Given the description of an element on the screen output the (x, y) to click on. 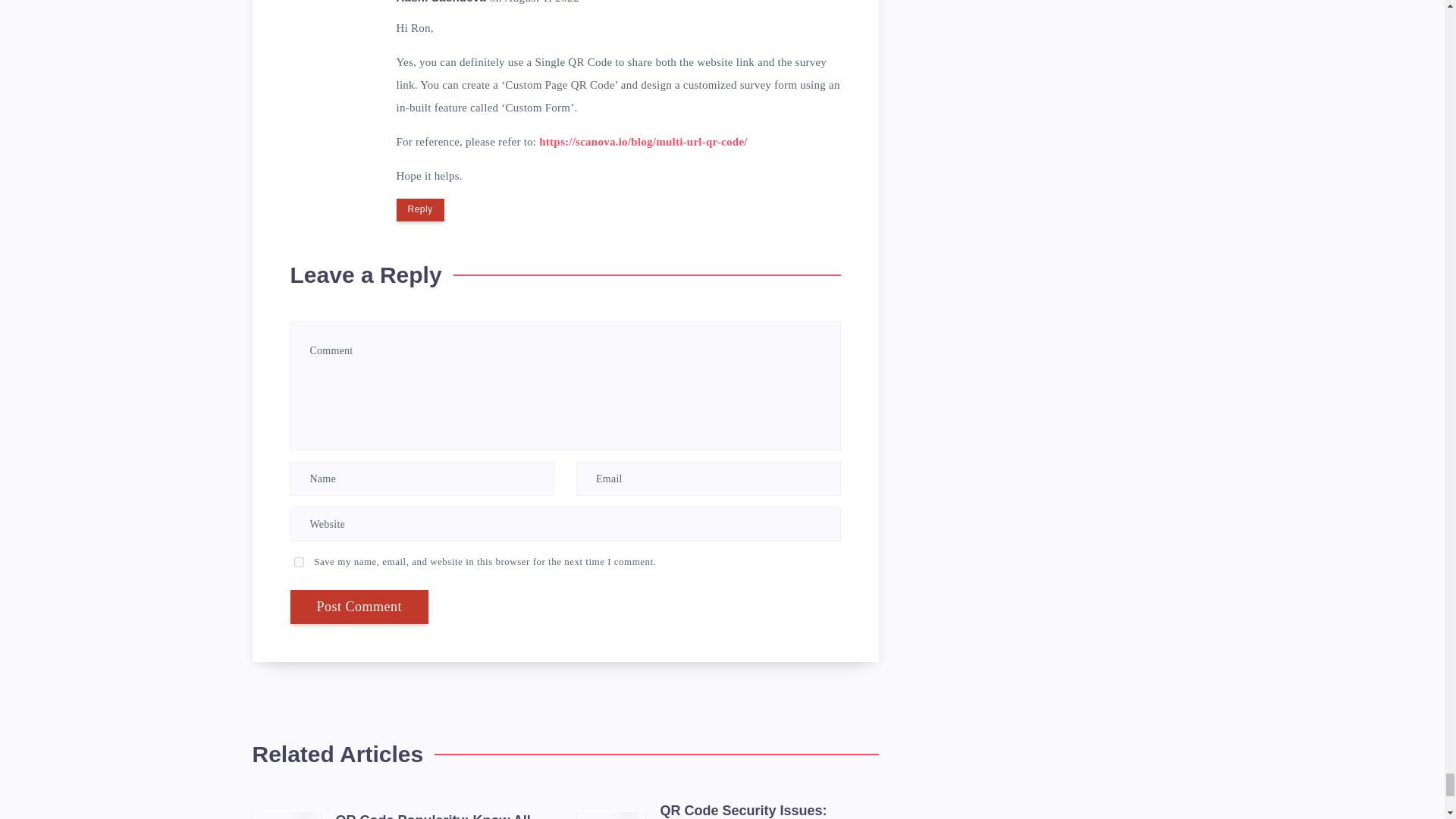
Post Comment (358, 606)
yes (299, 562)
